Given the description of an element on the screen output the (x, y) to click on. 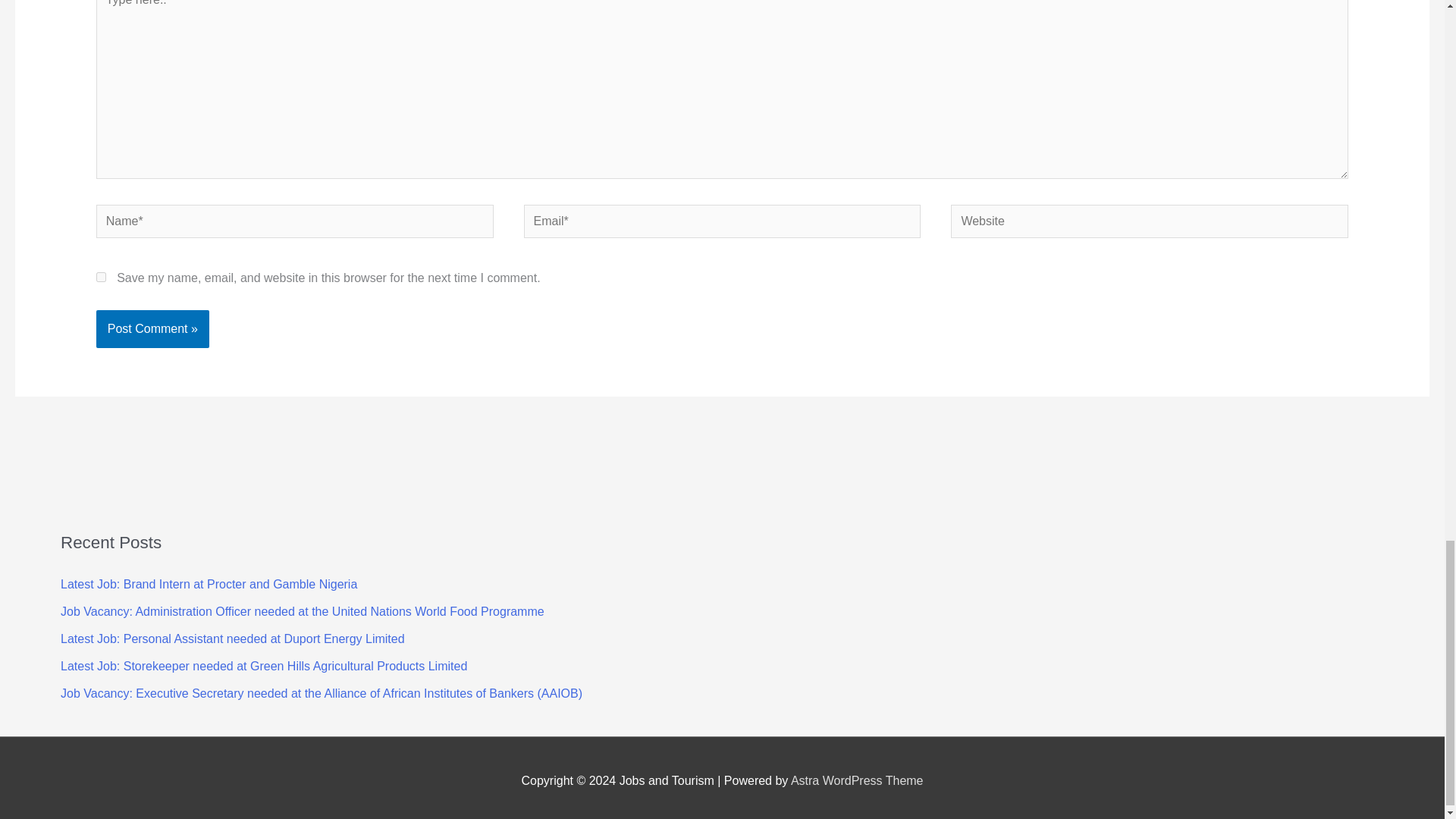
Latest Job: Brand Intern at Procter and Gamble Nigeria (208, 584)
yes (101, 276)
Astra WordPress Theme (856, 780)
